Given the description of an element on the screen output the (x, y) to click on. 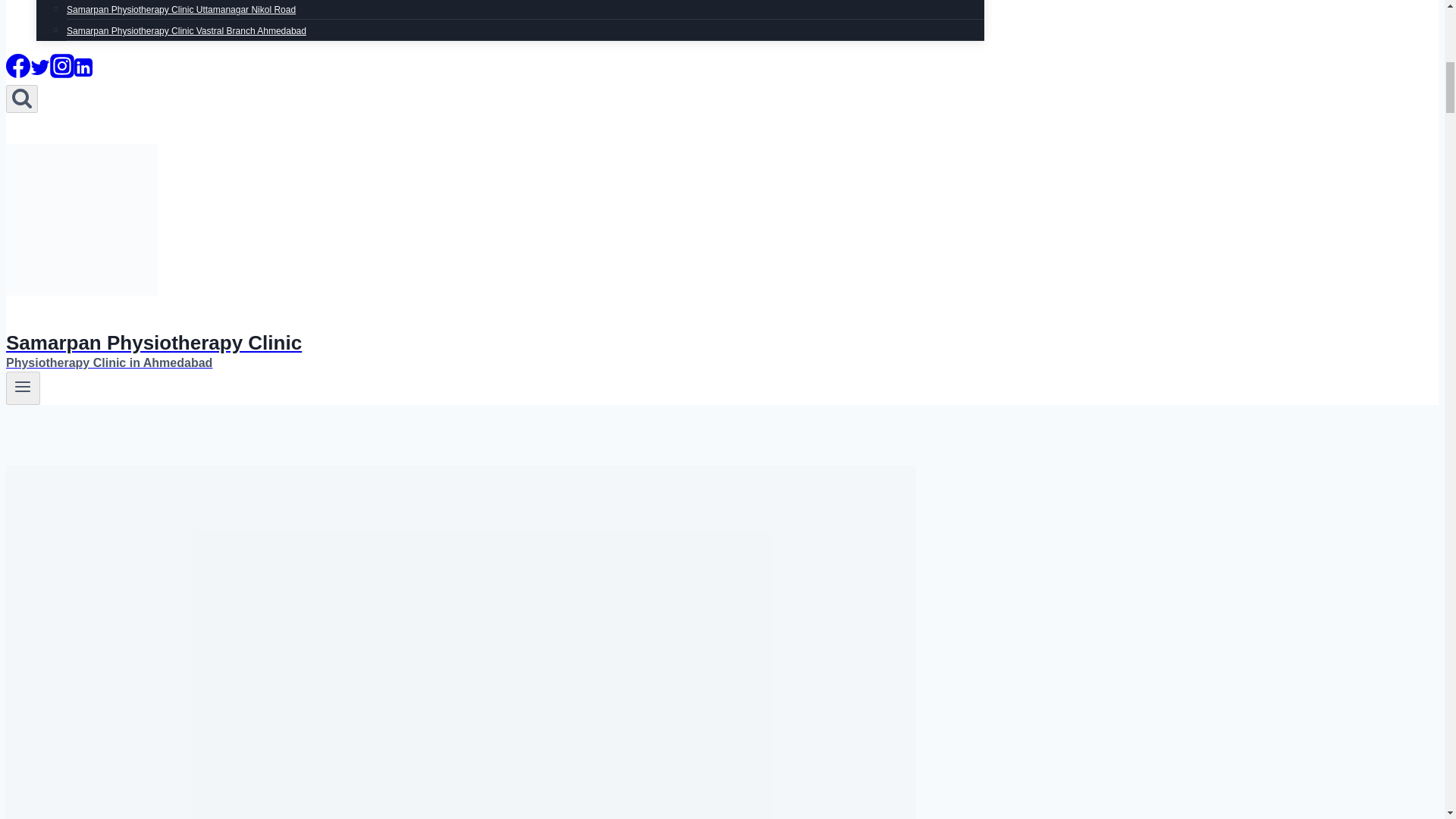
Toggle Menu (22, 386)
Toggle Menu (22, 387)
Physiotherapy Clinic Near Rabari Colony Char Rasta (172, 1)
Samarpan Physiotherapy Clinic Uttamanagar Nikol Road (180, 12)
Twitter (39, 66)
Samarpan Physiotherapy Clinic Vastral Branch Ahmedabad (185, 30)
Twitter (39, 73)
Facebook (17, 65)
Search (21, 99)
